Given the description of an element on the screen output the (x, y) to click on. 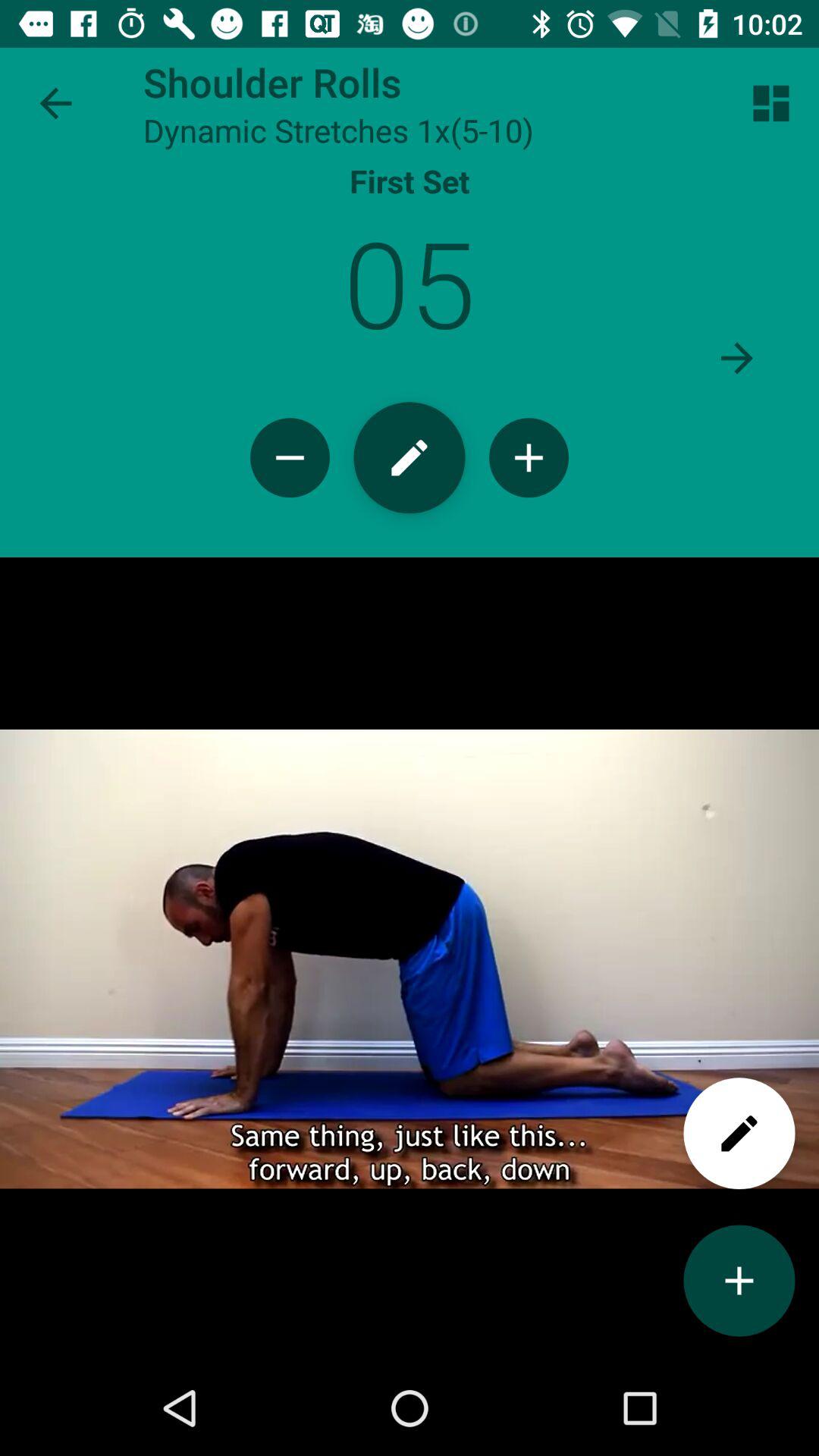
add more (739, 1280)
